Given the description of an element on the screen output the (x, y) to click on. 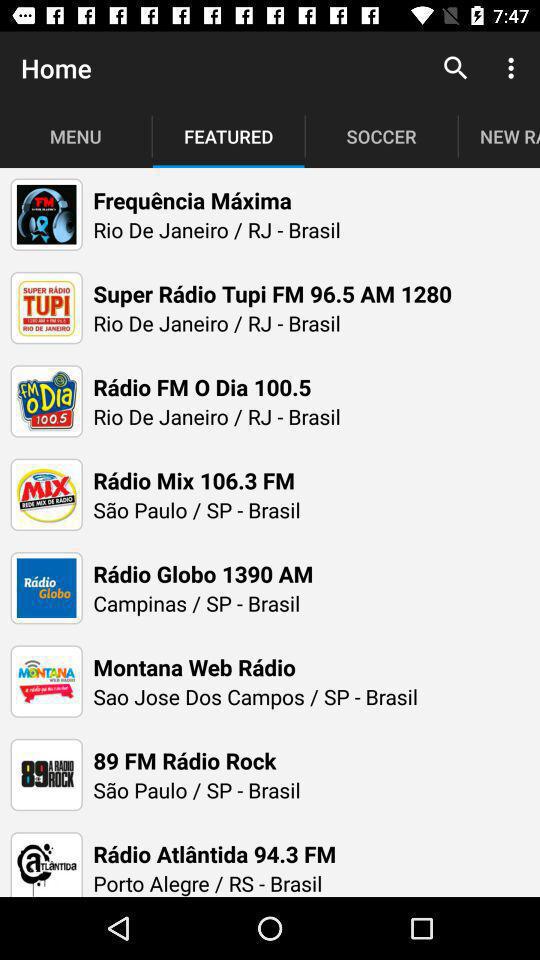
open icon to the right of soccer (455, 67)
